Given the description of an element on the screen output the (x, y) to click on. 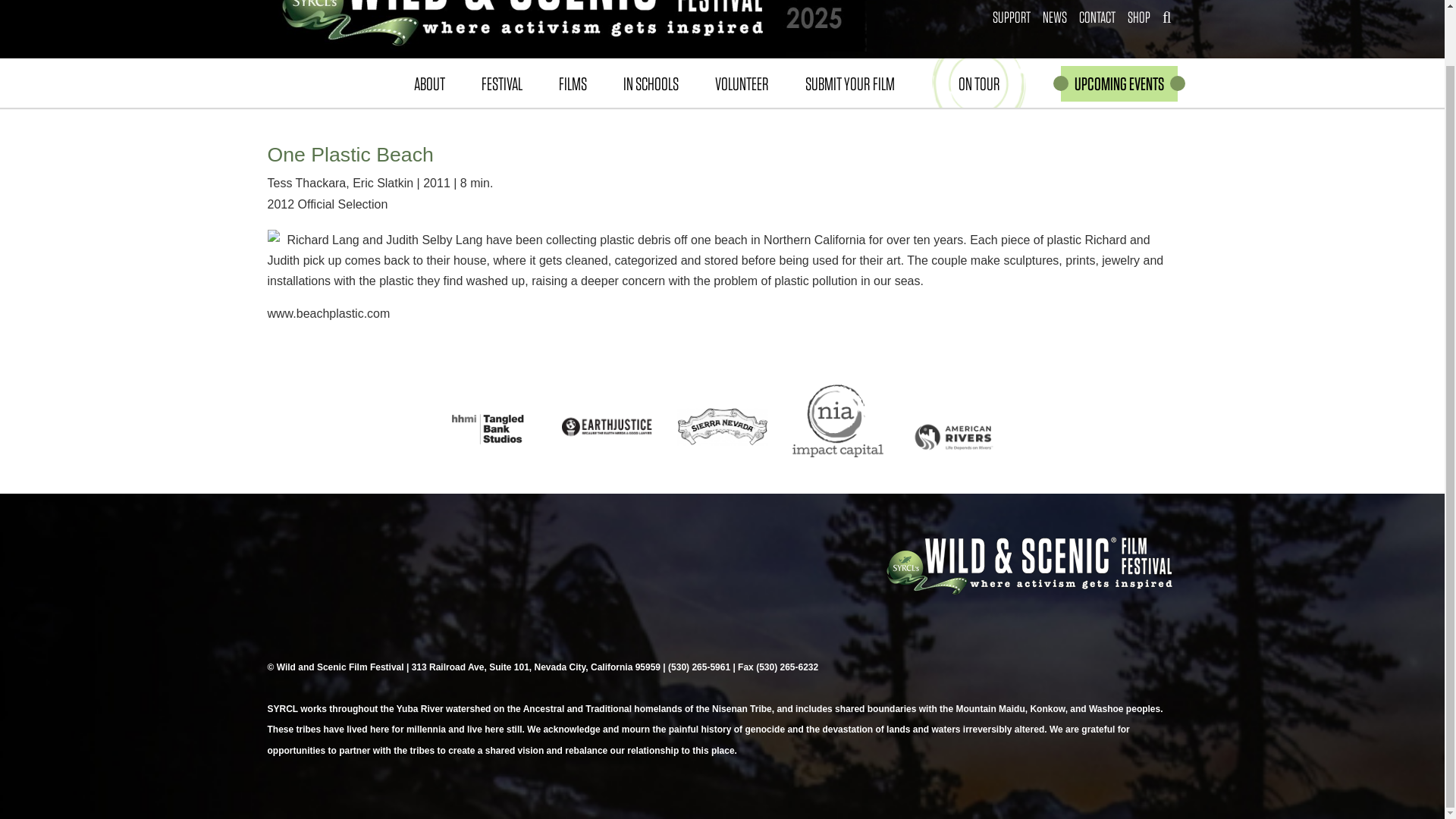
FESTIVAL (501, 82)
ON TOUR (979, 82)
CONTACT (1097, 16)
SHOP (1138, 16)
SUBMIT YOUR FILM (849, 82)
SUPPORT (1011, 16)
NEWS (1054, 16)
IN SCHOOLS (651, 82)
VOLUNTEER (740, 82)
FILMS (572, 82)
ABOUT (429, 82)
UPCOMING EVENTS (1117, 83)
